Given the description of an element on the screen output the (x, y) to click on. 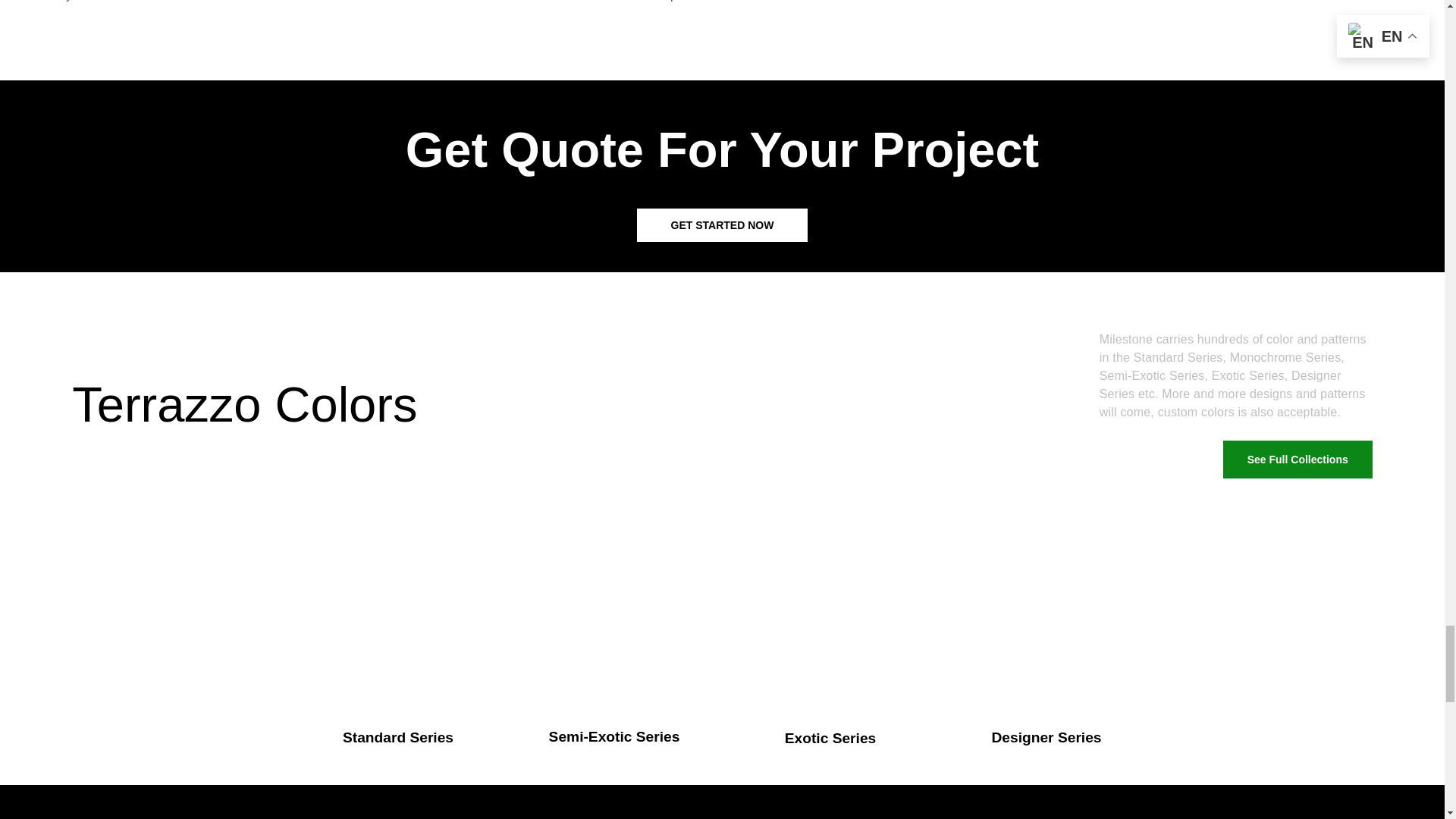
Submit (329, 693)
Linkedin (668, 179)
Youtube (775, 179)
Facebook-f (721, 179)
